Given the description of an element on the screen output the (x, y) to click on. 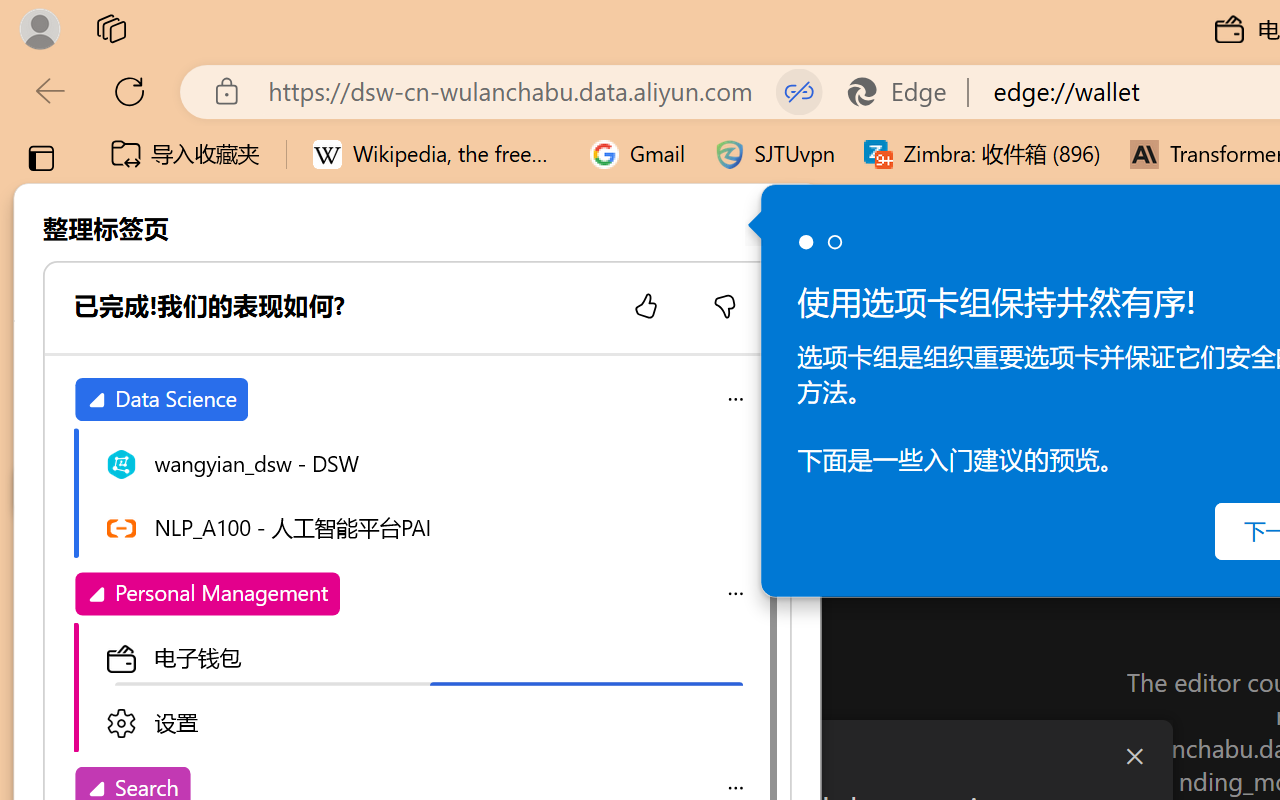
Wikipedia, the free encyclopedia (437, 154)
Run and Debug (Ctrl+Shift+D) (135, 692)
Explorer (Ctrl+Shift+E) (135, 432)
Class: actions-container (703, 756)
Class: menubar compact overflow-menu-only (135, 358)
